Given the description of an element on the screen output the (x, y) to click on. 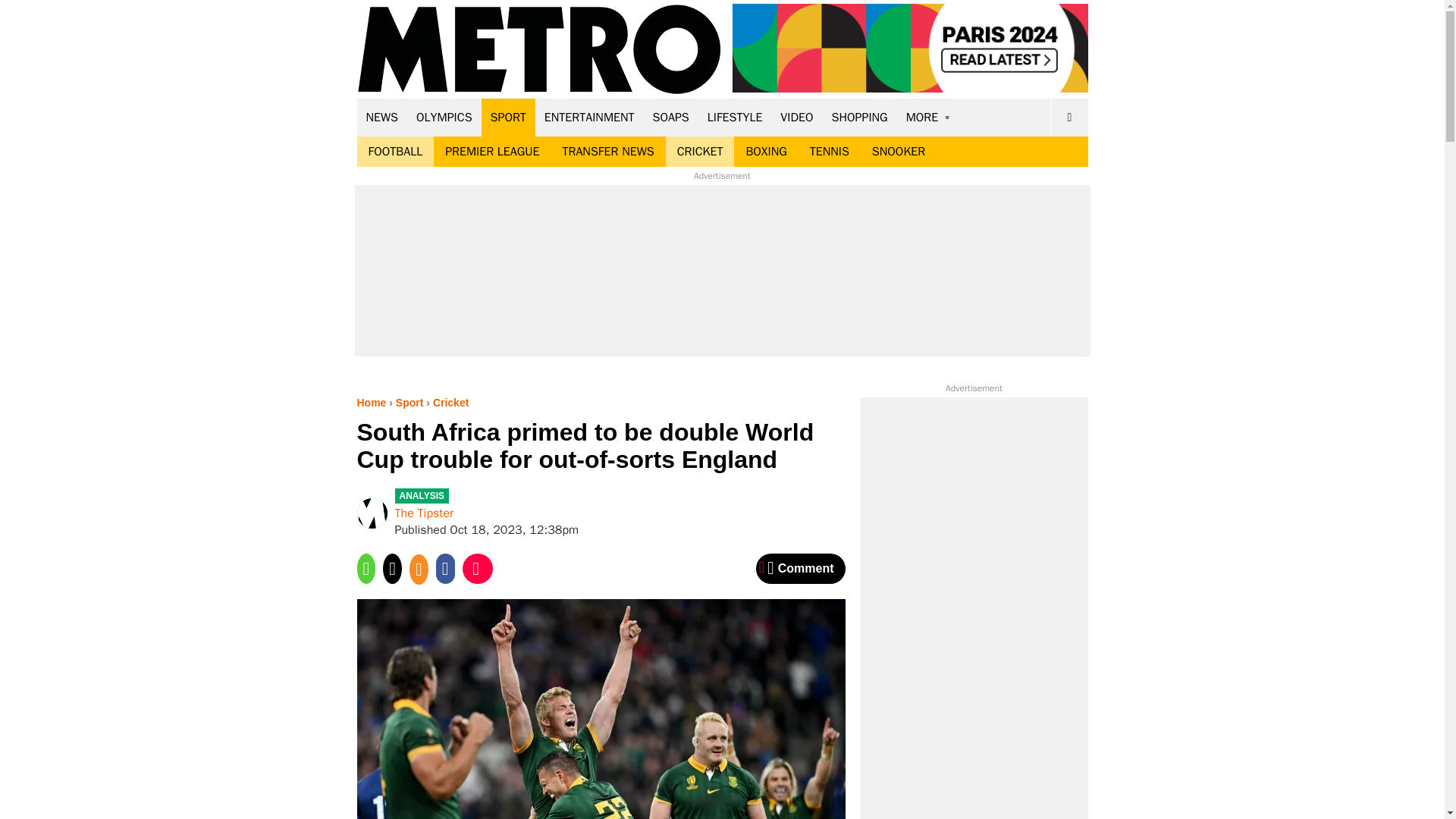
SNOOKER (898, 151)
LIFESTYLE (734, 117)
TENNIS (828, 151)
CRICKET (700, 151)
NEWS (381, 117)
OLYMPICS (444, 117)
TRANSFER NEWS (607, 151)
ENTERTAINMENT (589, 117)
Metro (539, 50)
SOAPS (670, 117)
